Given the description of an element on the screen output the (x, y) to click on. 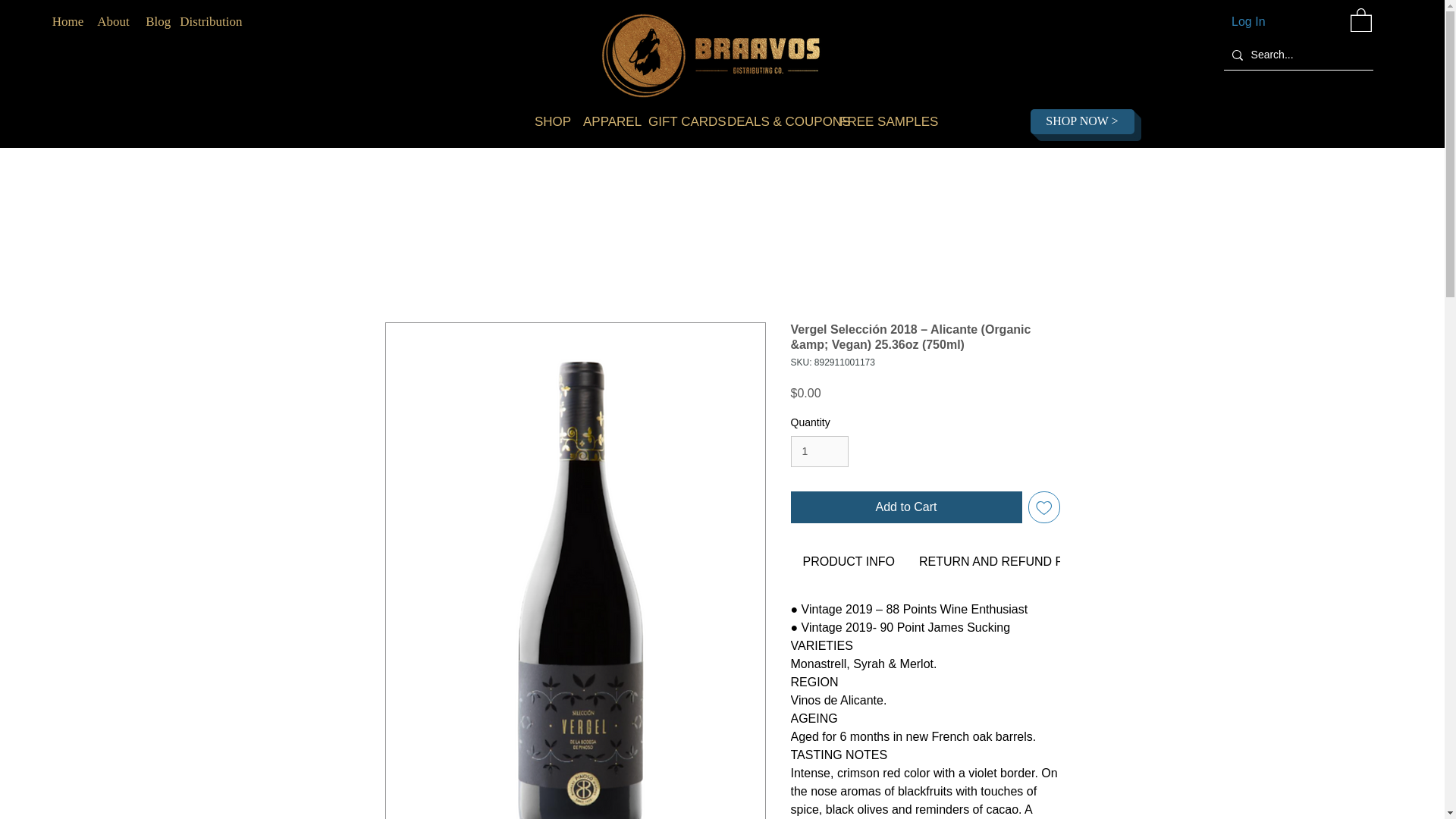
Blog  (159, 21)
FREE SAMPLES (874, 121)
Add to Cart (906, 507)
About (113, 21)
APPAREL (604, 121)
Use right and left arrows to navigate between tabs (848, 561)
Distribution (210, 21)
Home (68, 21)
GIFT CARDS (676, 121)
Log In (1233, 21)
1 (818, 450)
Use right and left arrows to navigate between tabs (1008, 561)
